Given the description of an element on the screen output the (x, y) to click on. 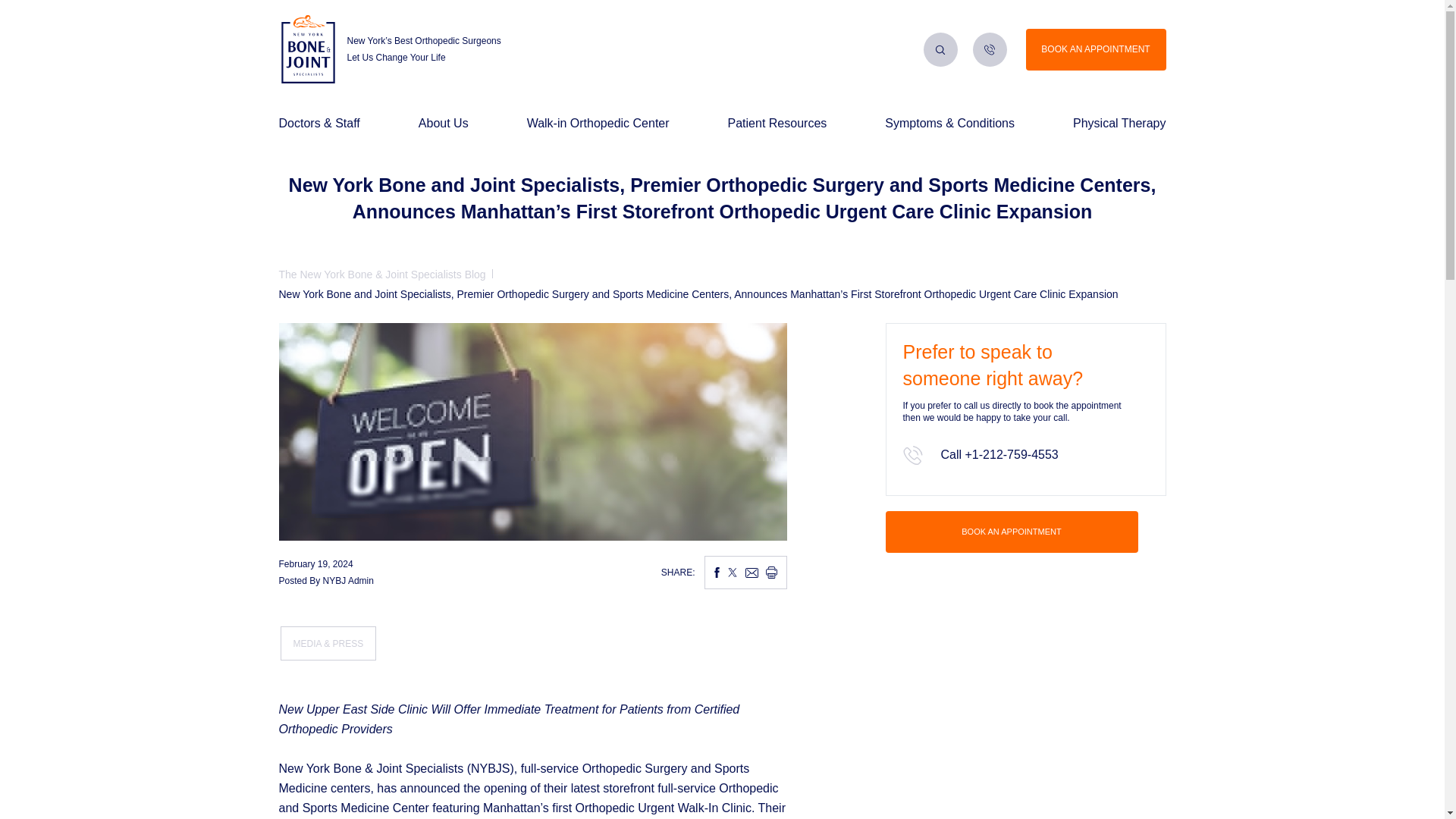
BOOK AN APPOINTMENT (1095, 49)
BOOK AN APPOINTMENT (1011, 531)
About Us (443, 123)
Walk-in Orthopedic Center (598, 123)
Physical Therapy (1119, 123)
Patient Resources (777, 123)
